Given the description of an element on the screen output the (x, y) to click on. 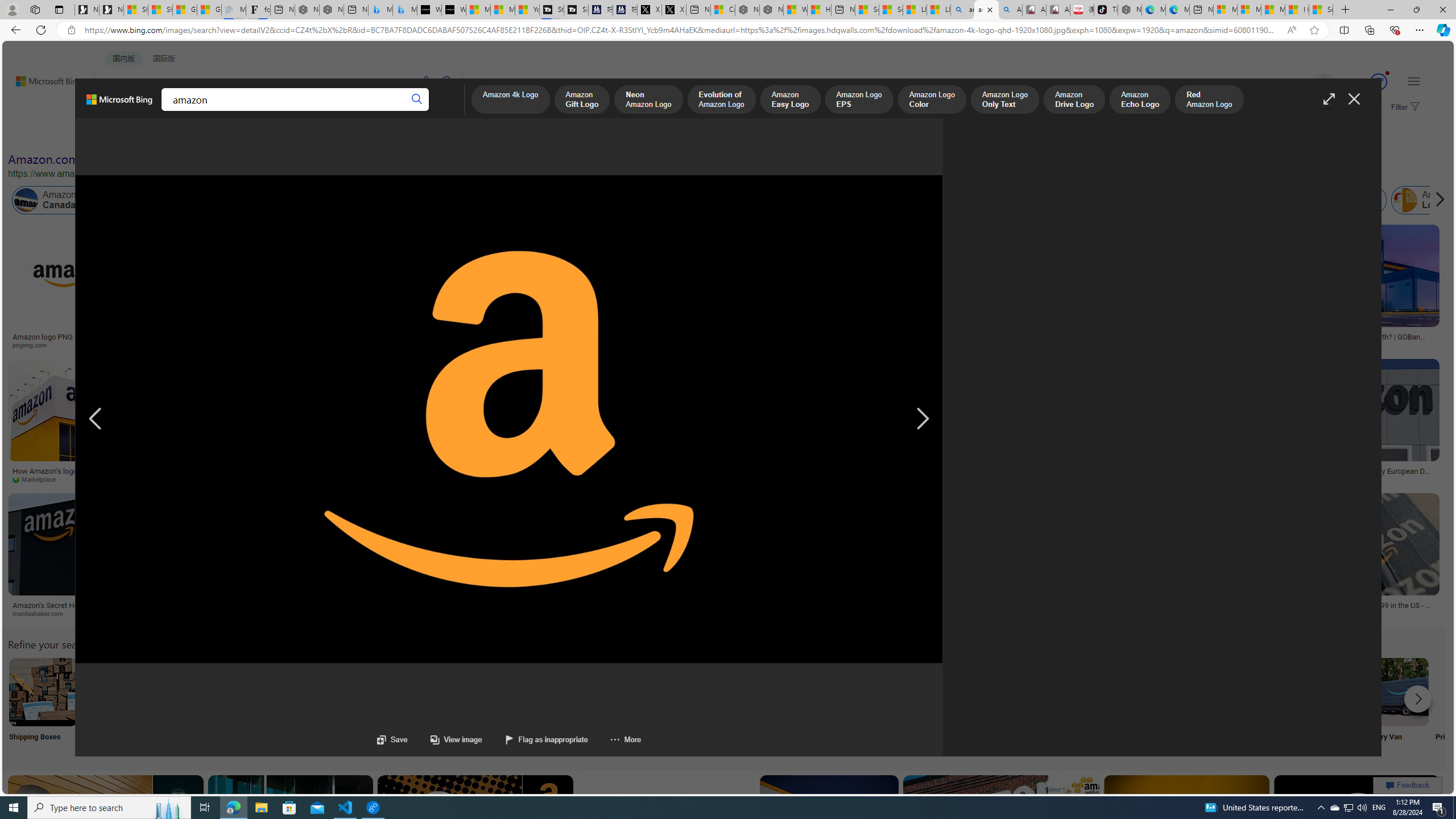
pngimg.com (34, 344)
Listen: What's next for Amazon? (338, 336)
PC World (910, 479)
Amazon.com.au (881, 200)
Wish List (568, 706)
How Much Is Amazon's Net Worth? | GOBankingRates (1355, 340)
Listen: What's next for Amazon? (370, 336)
Amazon Forest (999, 200)
